Given the description of an element on the screen output the (x, y) to click on. 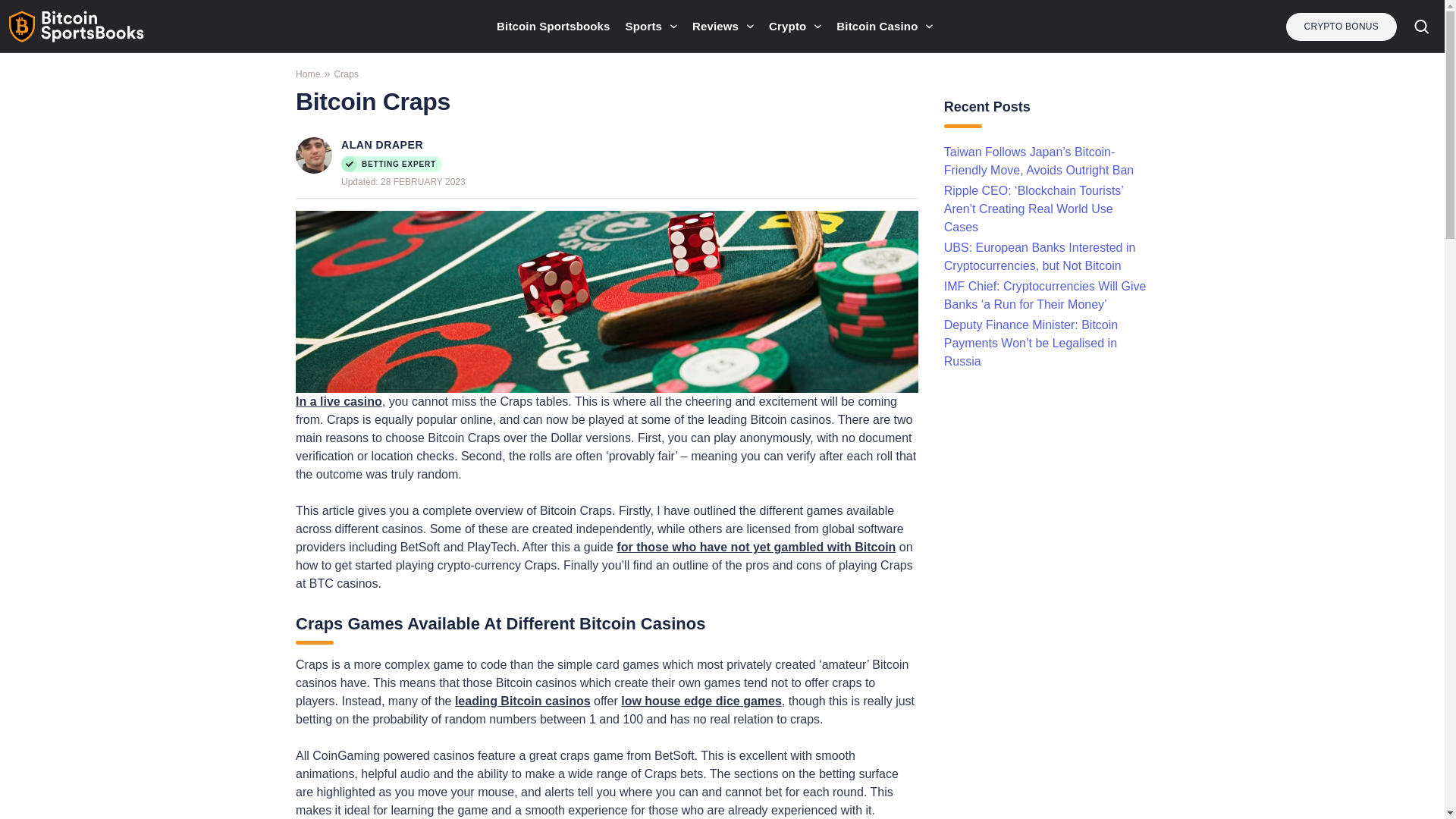
Home (307, 73)
Crypto (794, 26)
Bitcoin Sportsbooks (553, 26)
Reviews (723, 26)
Sports (651, 26)
Bitcoin Casino (884, 26)
